Given the description of an element on the screen output the (x, y) to click on. 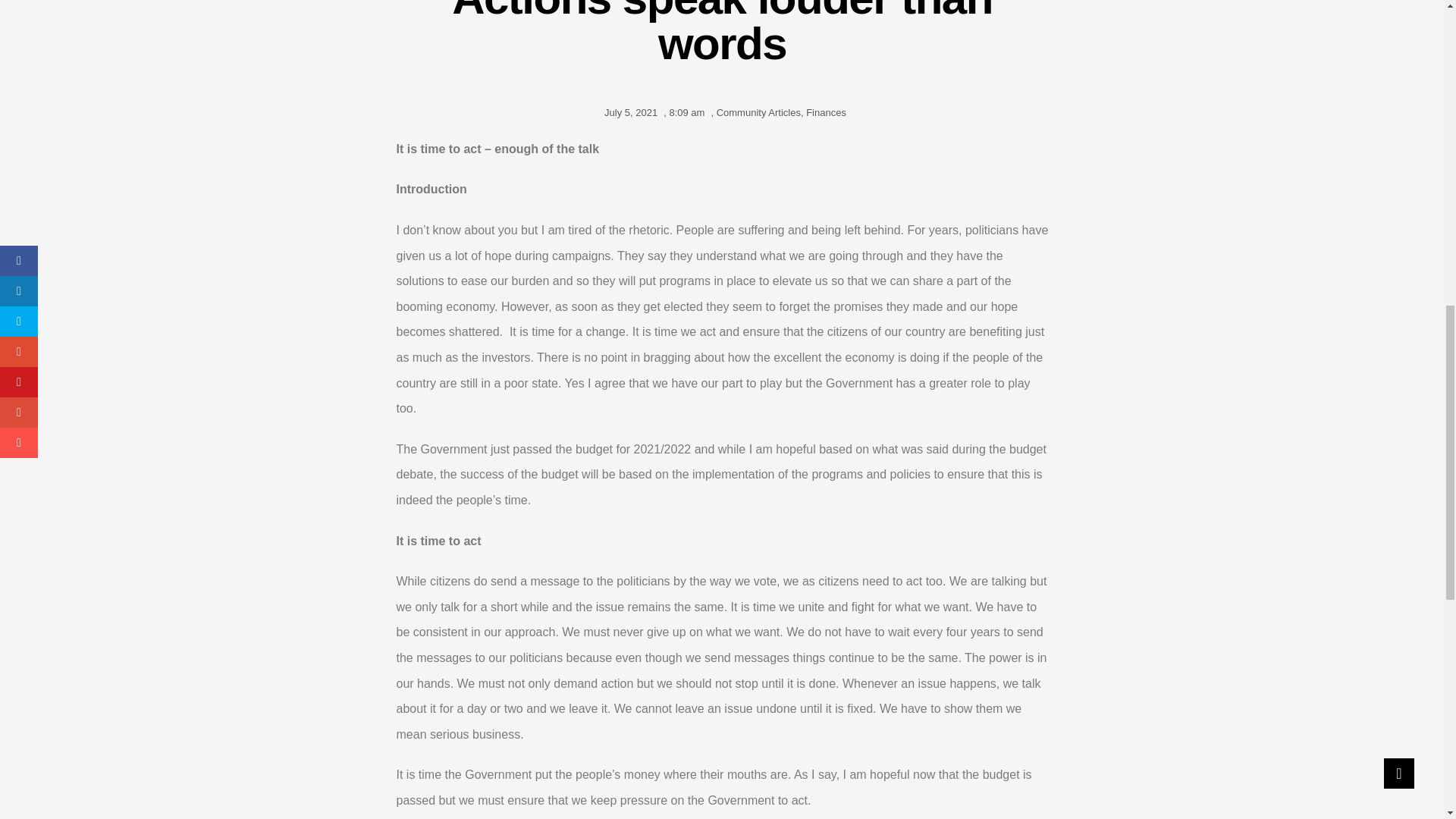
Finances (825, 112)
Community Articles (758, 112)
July 5, 2021 (628, 112)
